Given the description of an element on the screen output the (x, y) to click on. 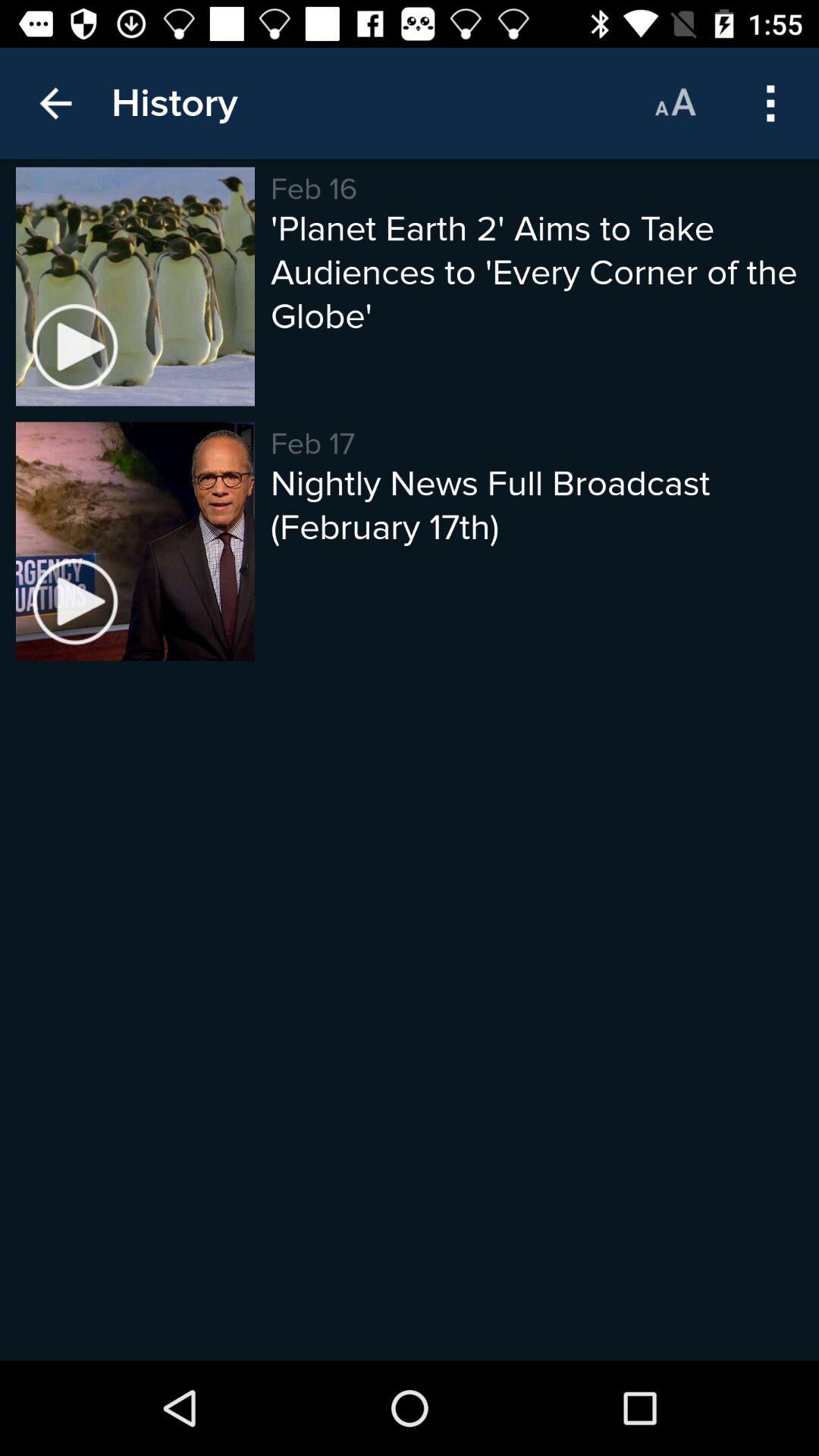
swipe to history icon (174, 103)
